Given the description of an element on the screen output the (x, y) to click on. 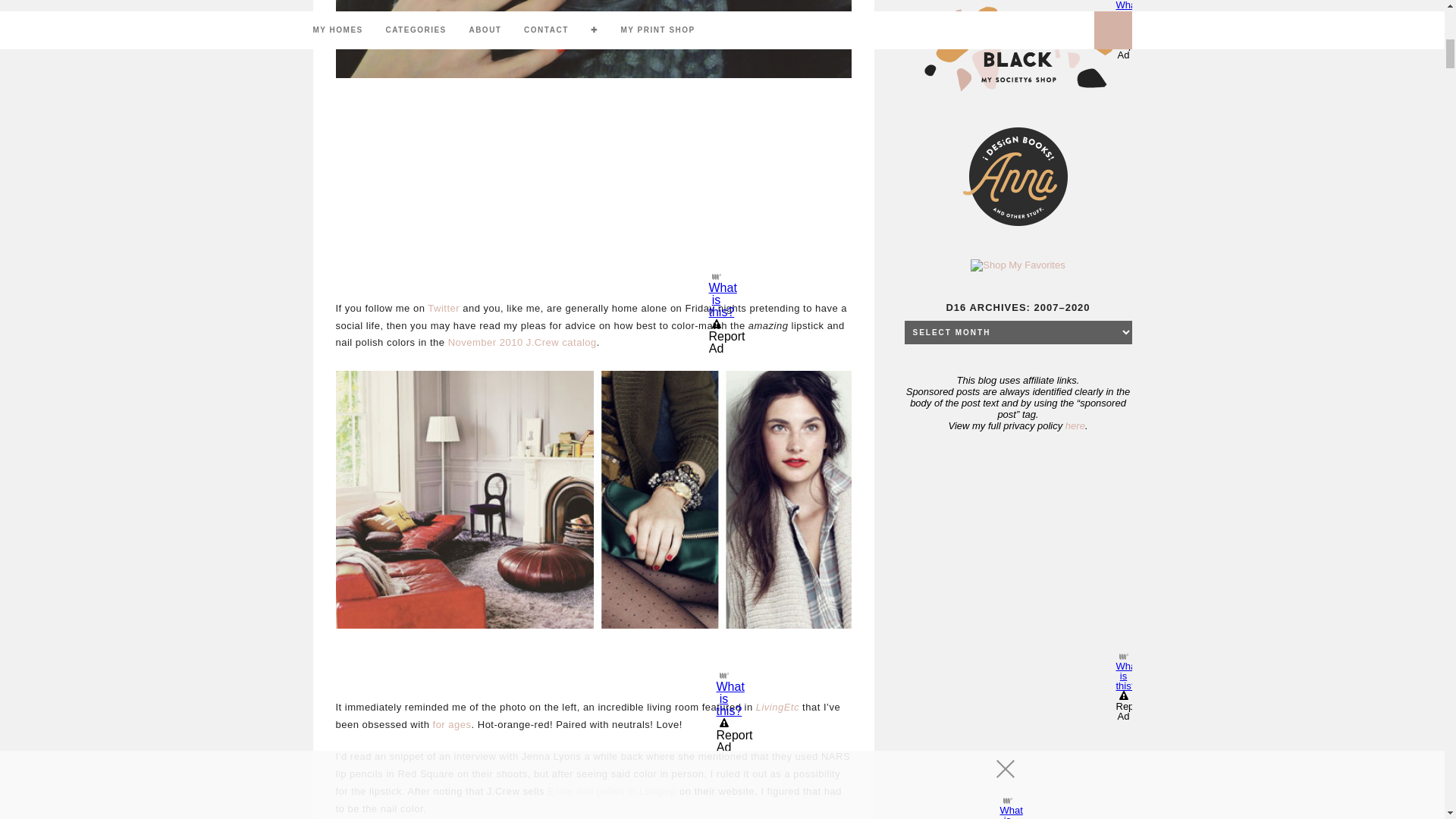
3rd party ad content (592, 190)
3rd party ad content (592, 664)
3rd party ad content (1017, 555)
red orange inspiration (592, 499)
